Given the description of an element on the screen output the (x, y) to click on. 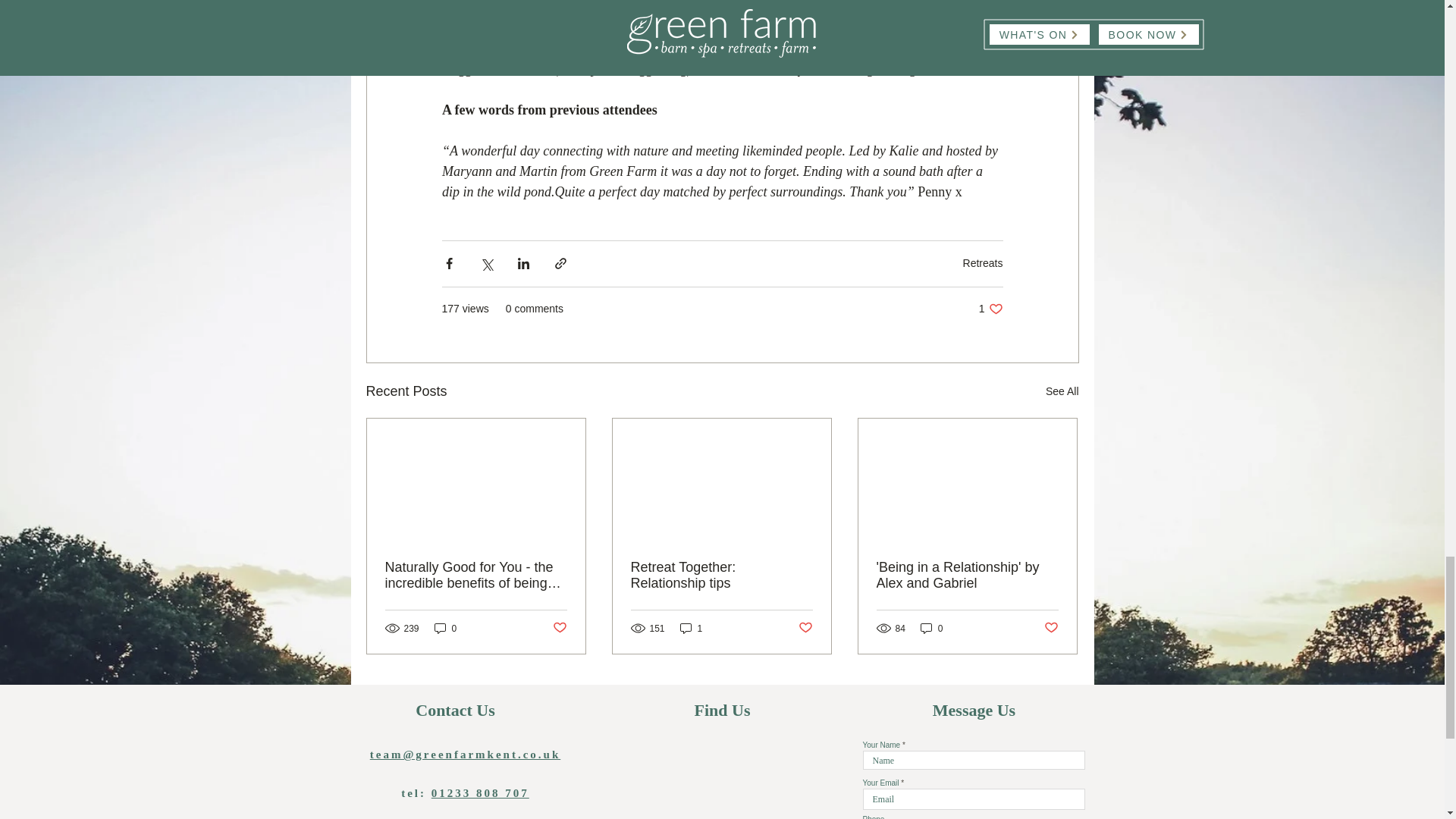
'Being in a Relationship' by Alex and Gabriel (967, 575)
Post not marked as liked (804, 627)
Retreat Together: Relationship tips (721, 575)
Post not marked as liked (1050, 627)
Post not marked as liked (558, 627)
0 (445, 627)
1 (691, 627)
Retreats (990, 309)
0 (982, 263)
See All (931, 627)
